Given the description of an element on the screen output the (x, y) to click on. 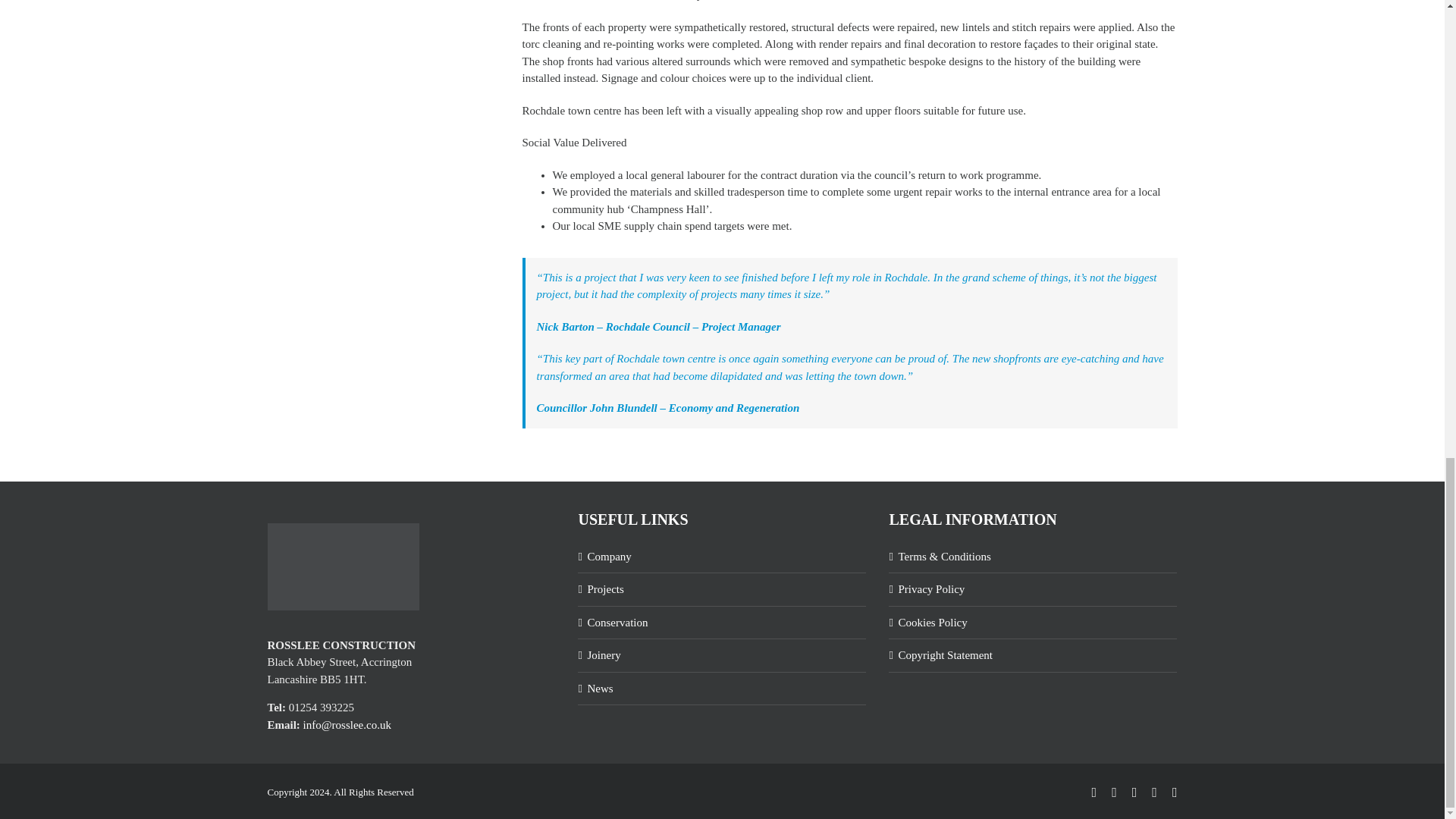
Facebook (1114, 792)
YouTube (1174, 792)
Instagram (1154, 792)
LinkedIn (1094, 792)
X (1134, 792)
